Given the description of an element on the screen output the (x, y) to click on. 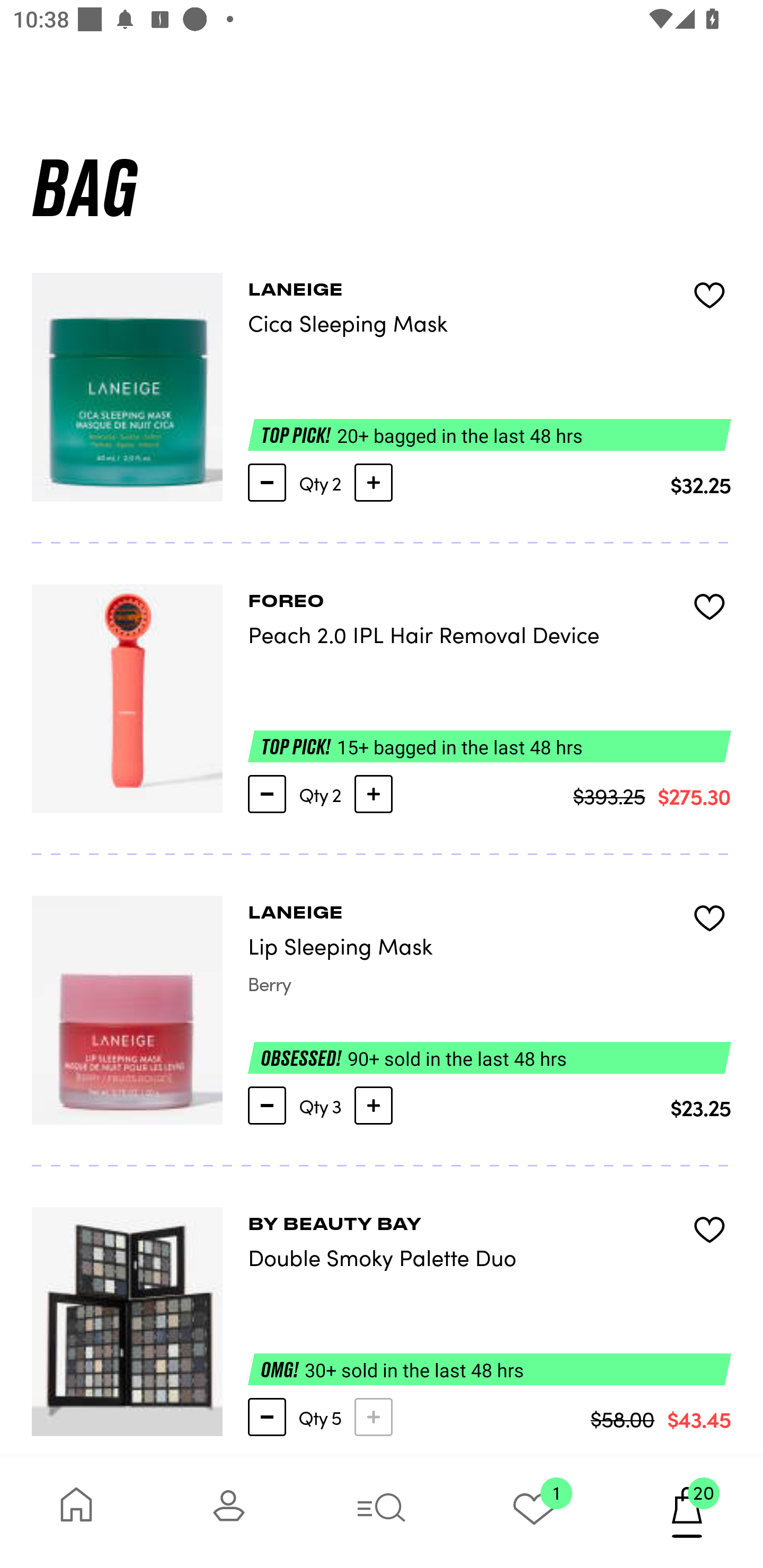
1 (533, 1512)
20 (686, 1512)
